Given the description of an element on the screen output the (x, y) to click on. 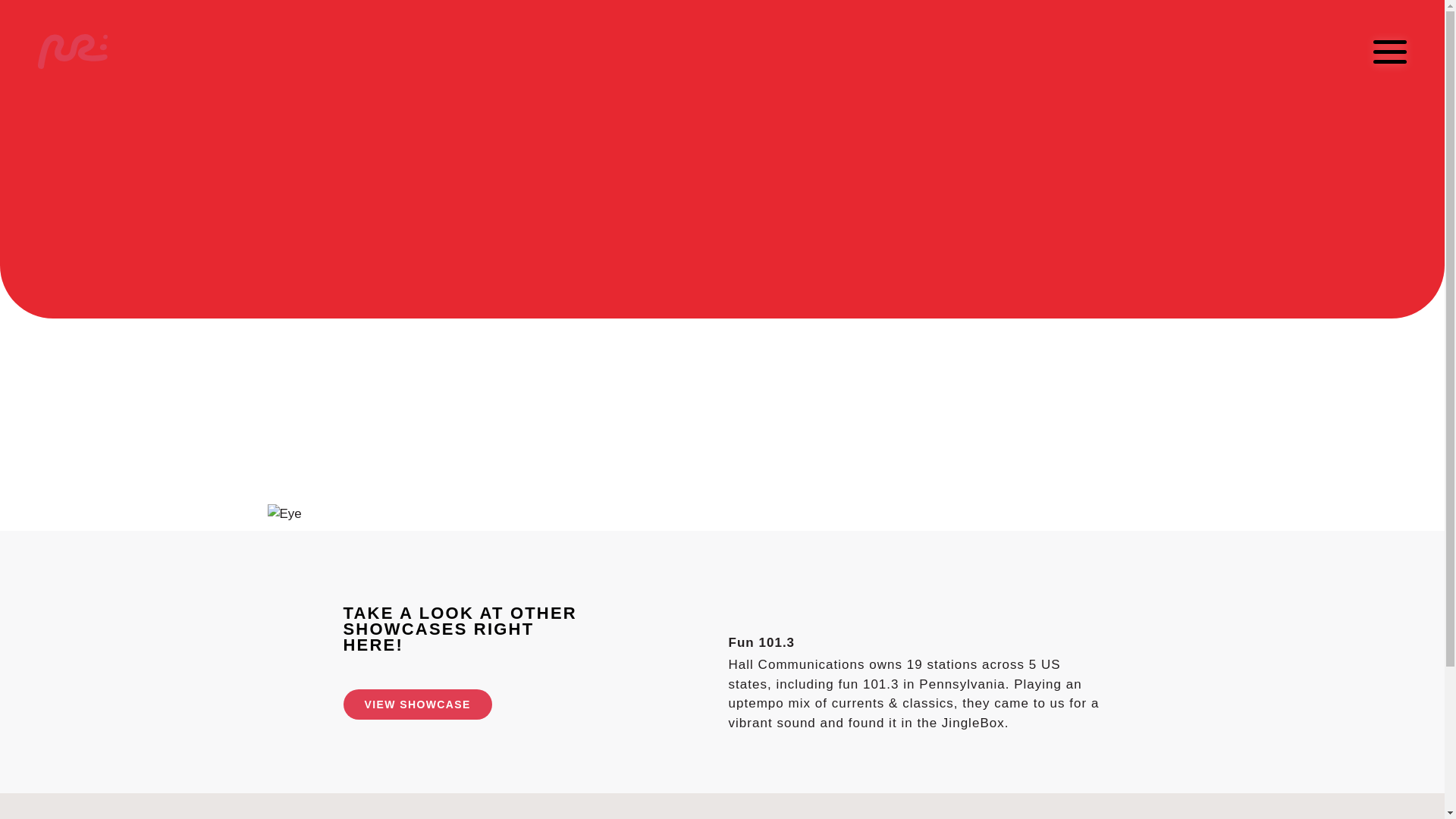
VIEW SHOWCASE (417, 704)
